Given the description of an element on the screen output the (x, y) to click on. 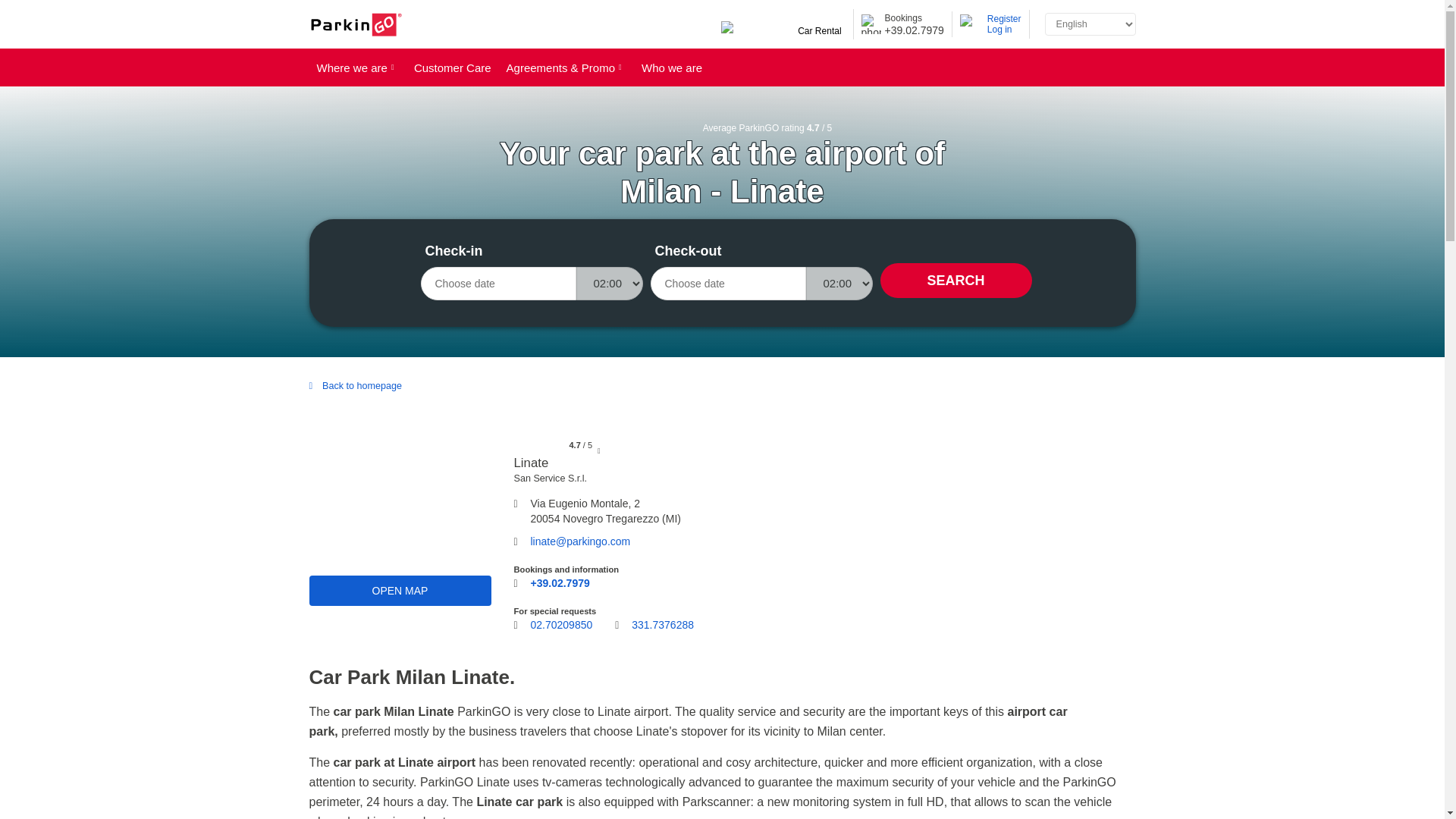
Maps (400, 590)
Register (1004, 18)
Customer Care (452, 66)
Car Rental (782, 30)
Telephone number (561, 625)
email (580, 541)
Search (954, 280)
Who we are (671, 66)
Telephone number (560, 583)
Log in (1004, 29)
Telephone number (662, 629)
